Given the description of an element on the screen output the (x, y) to click on. 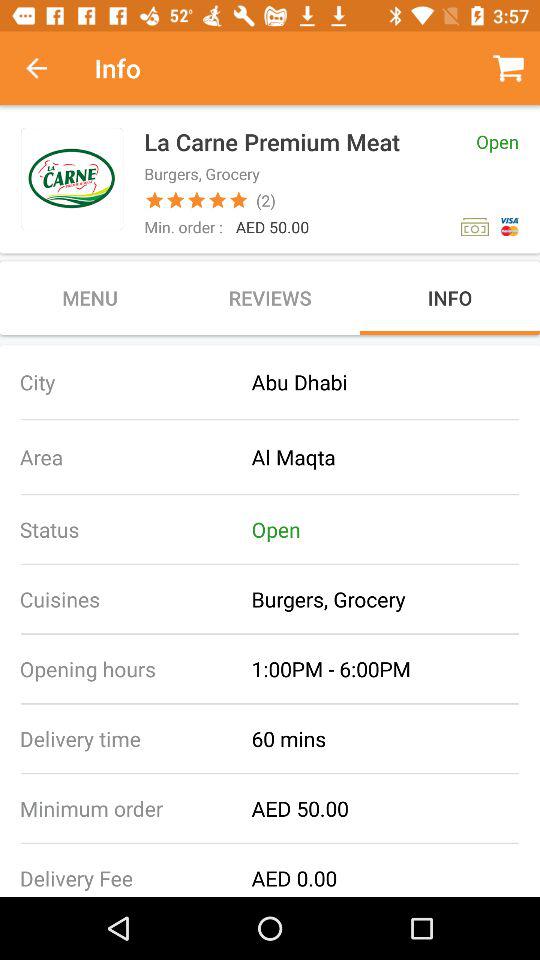
go back (47, 68)
